Given the description of an element on the screen output the (x, y) to click on. 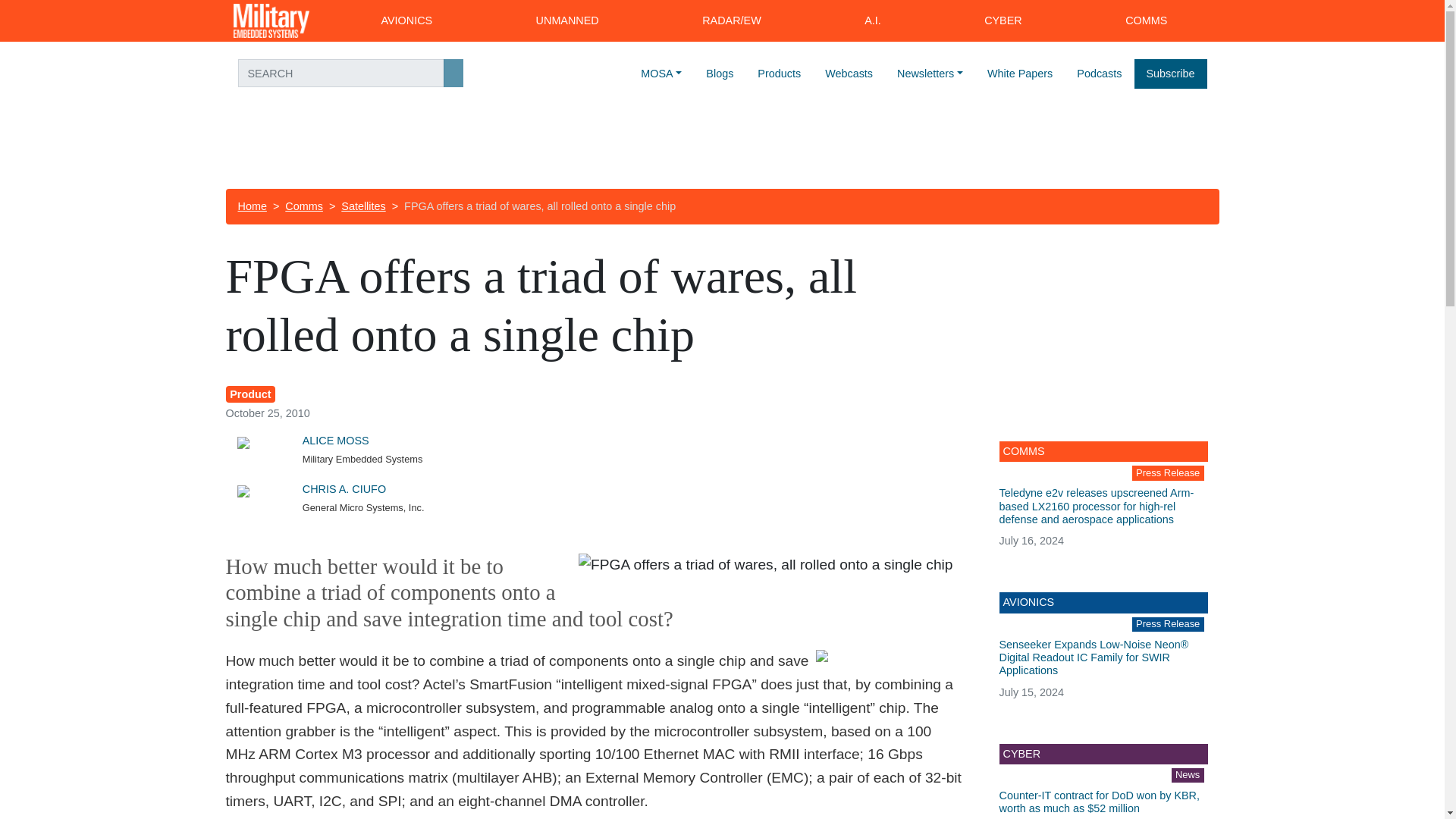
COMMS (1147, 20)
A.I. (872, 20)
CYBER (1003, 20)
AVIONICS (406, 20)
UNMANNED (566, 20)
